Given the description of an element on the screen output the (x, y) to click on. 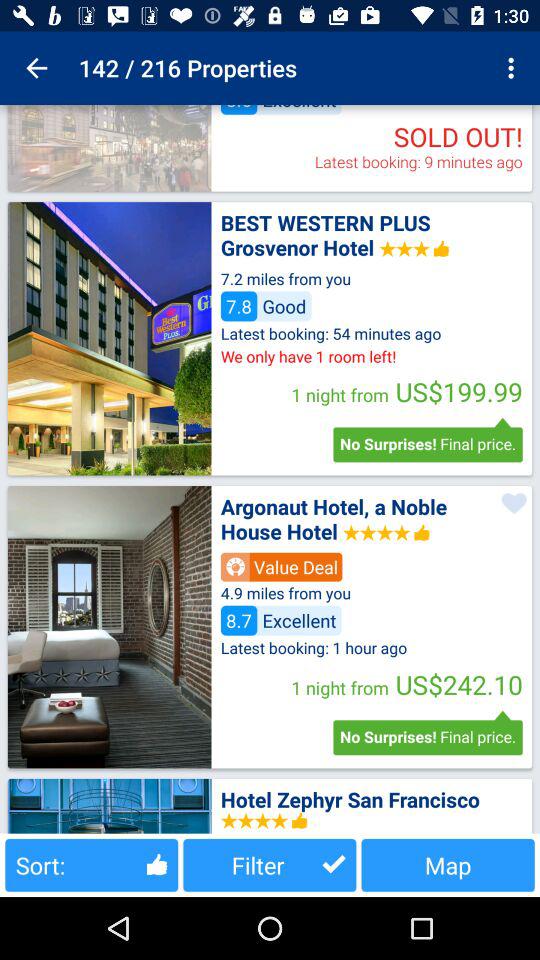
click the button to the left of filter icon (91, 864)
